Given the description of an element on the screen output the (x, y) to click on. 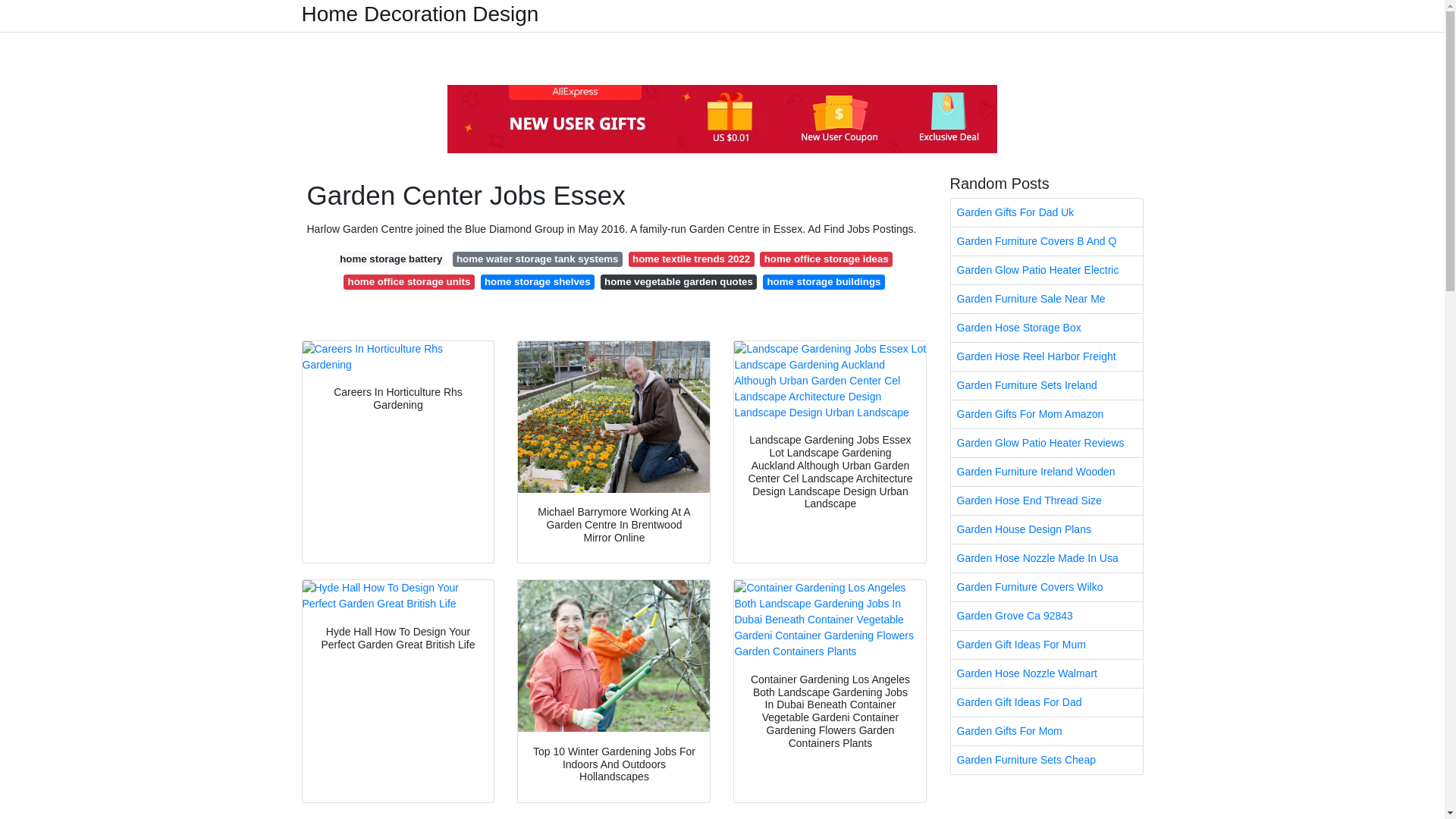
Garden Furniture Covers B And Q (1046, 241)
home office storage units (408, 281)
home storage battery (391, 258)
home office storage ideas (826, 258)
Garden Glow Patio Heater Reviews (1046, 443)
Garden Gifts For Dad Uk (1046, 212)
home water storage tank systems (537, 258)
Garden Hose Reel Harbor Freight (1046, 357)
home storage buildings (823, 281)
home storage shelves (537, 281)
